Given the description of an element on the screen output the (x, y) to click on. 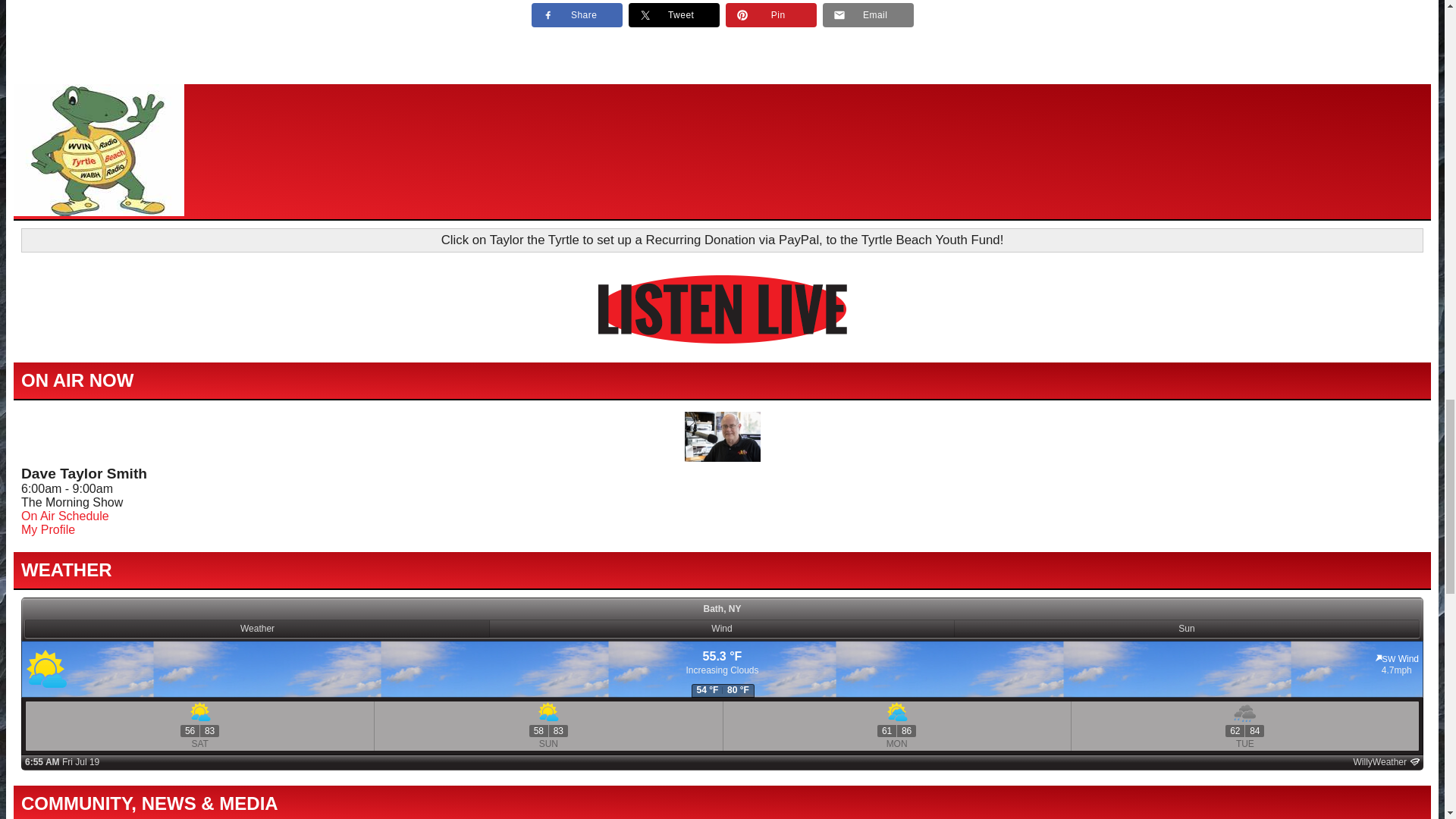
On Air Schedule (65, 515)
